Given the description of an element on the screen output the (x, y) to click on. 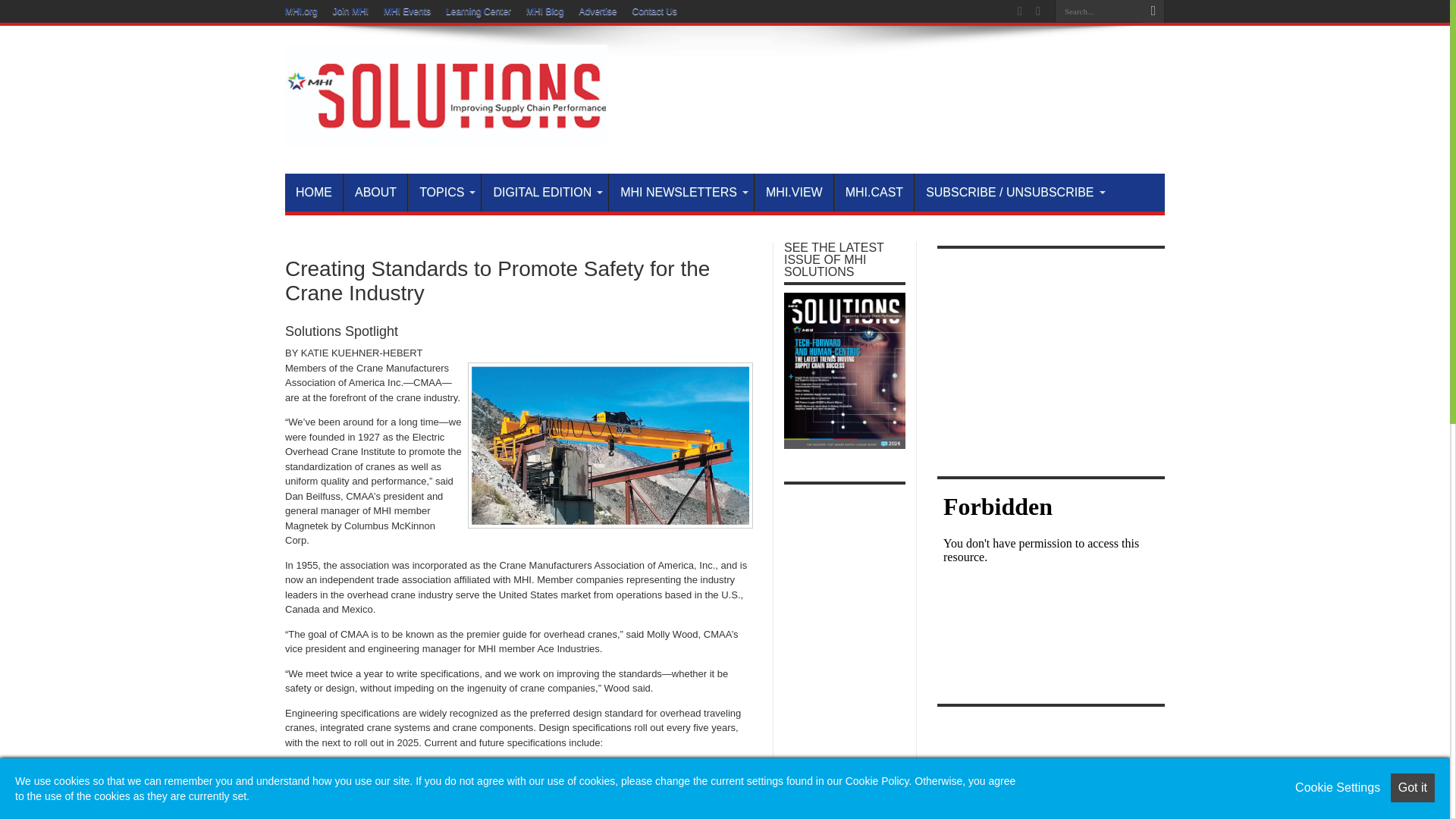
Search... (1097, 11)
MHI.org (301, 11)
3rd party ad content (888, 84)
ABOUT (375, 192)
Join MHI (350, 11)
3rd party ad content (1050, 766)
Advertise (596, 11)
TOPICS (443, 192)
Learning Center (478, 11)
HOME (313, 192)
